Given the description of an element on the screen output the (x, y) to click on. 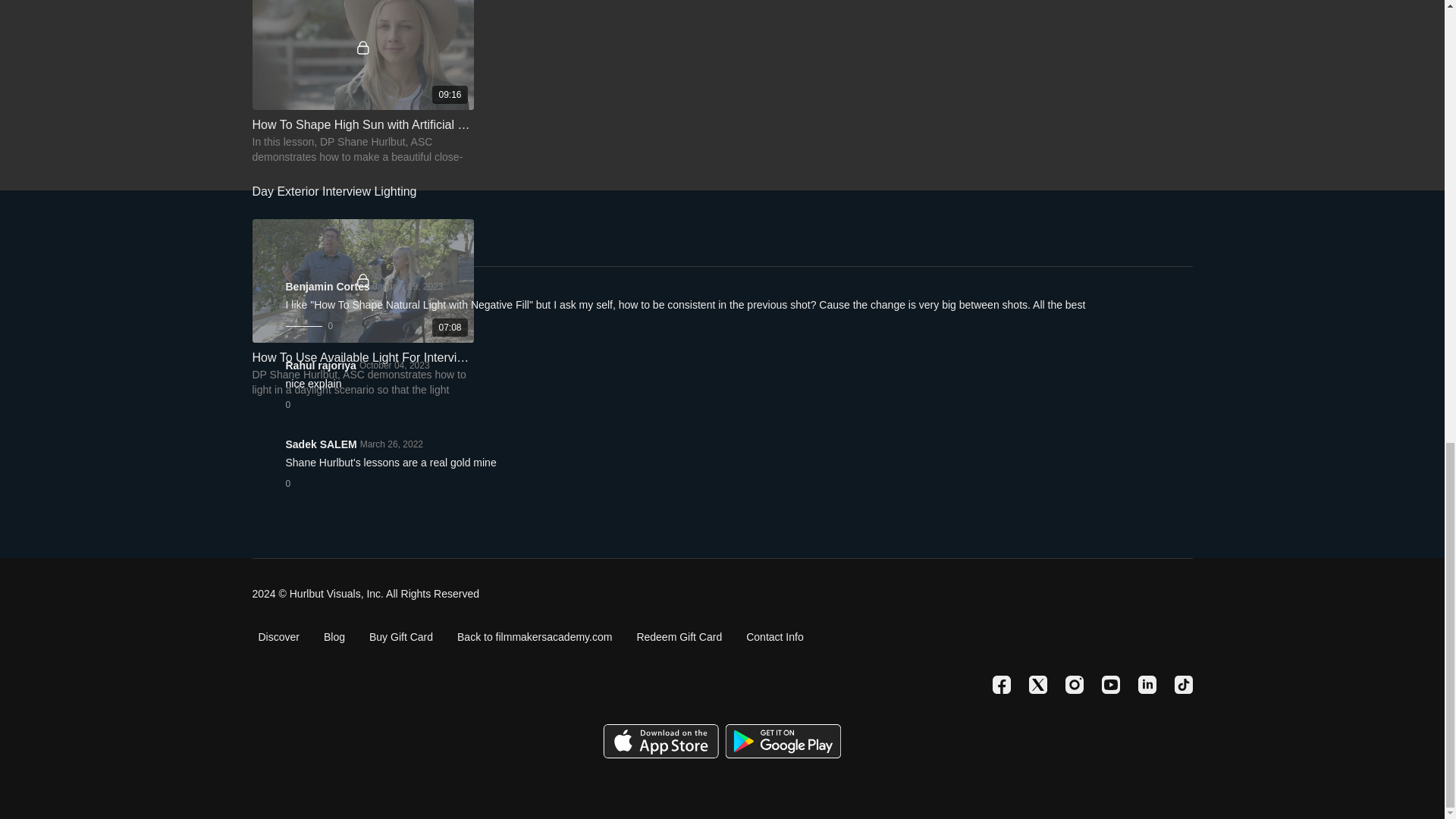
0 (292, 483)
Blog (334, 637)
0 (292, 404)
Benjamin Cortes (327, 286)
Buy Gift Card (400, 637)
Rahul rajoriya (320, 365)
Back to filmmakersacademy.com (534, 637)
Sign In (270, 244)
Sadek SALEM (320, 444)
Discover (277, 637)
